Given the description of an element on the screen output the (x, y) to click on. 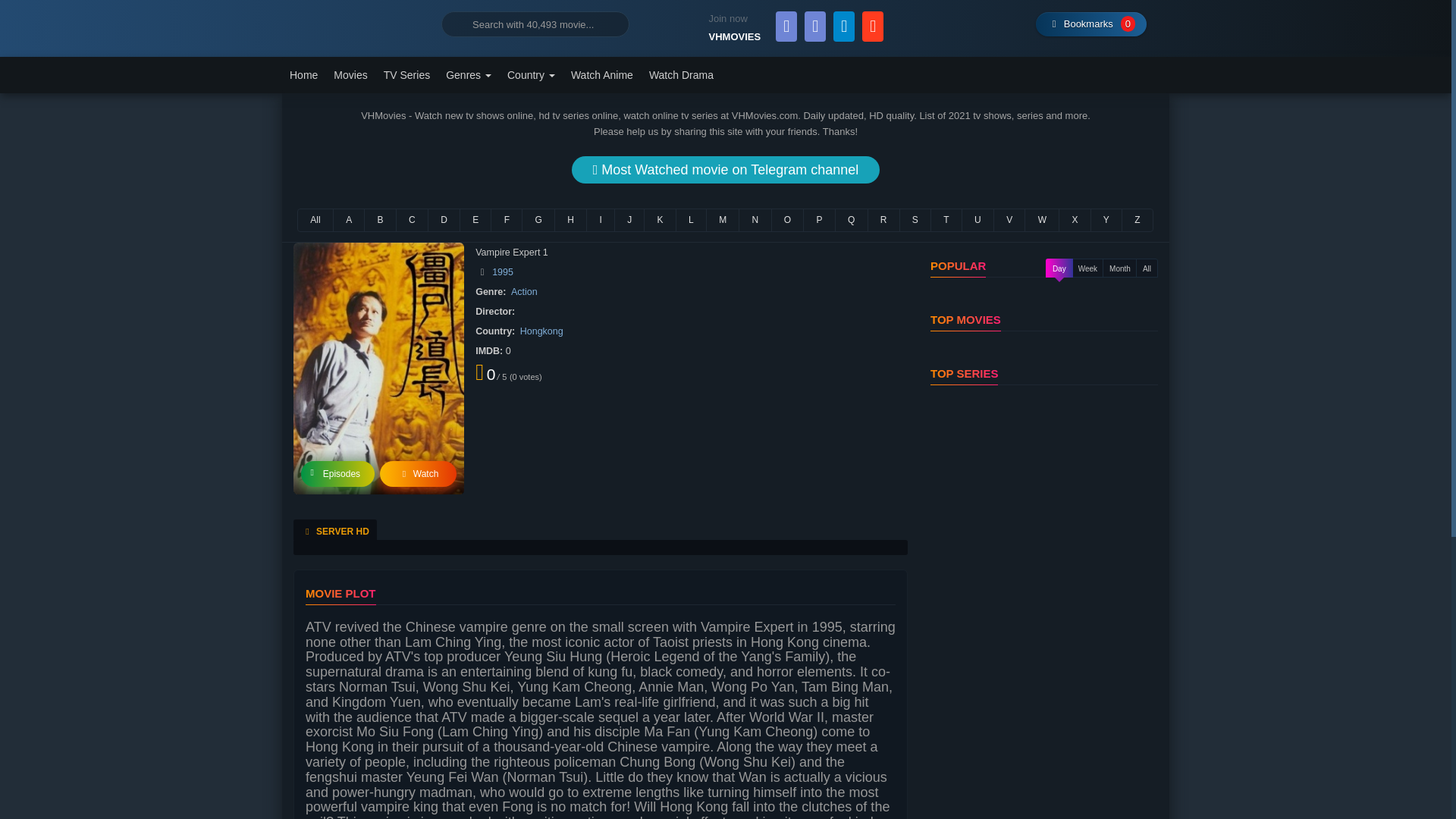
Home (304, 74)
Genres (468, 74)
Genres (468, 74)
Movies (350, 74)
TV Series (406, 74)
Home (304, 74)
Movies (350, 74)
TV Series (406, 74)
Watch Free Vampire Expert 1 Movie Online HD - VHMovies (356, 24)
